Given the description of an element on the screen output the (x, y) to click on. 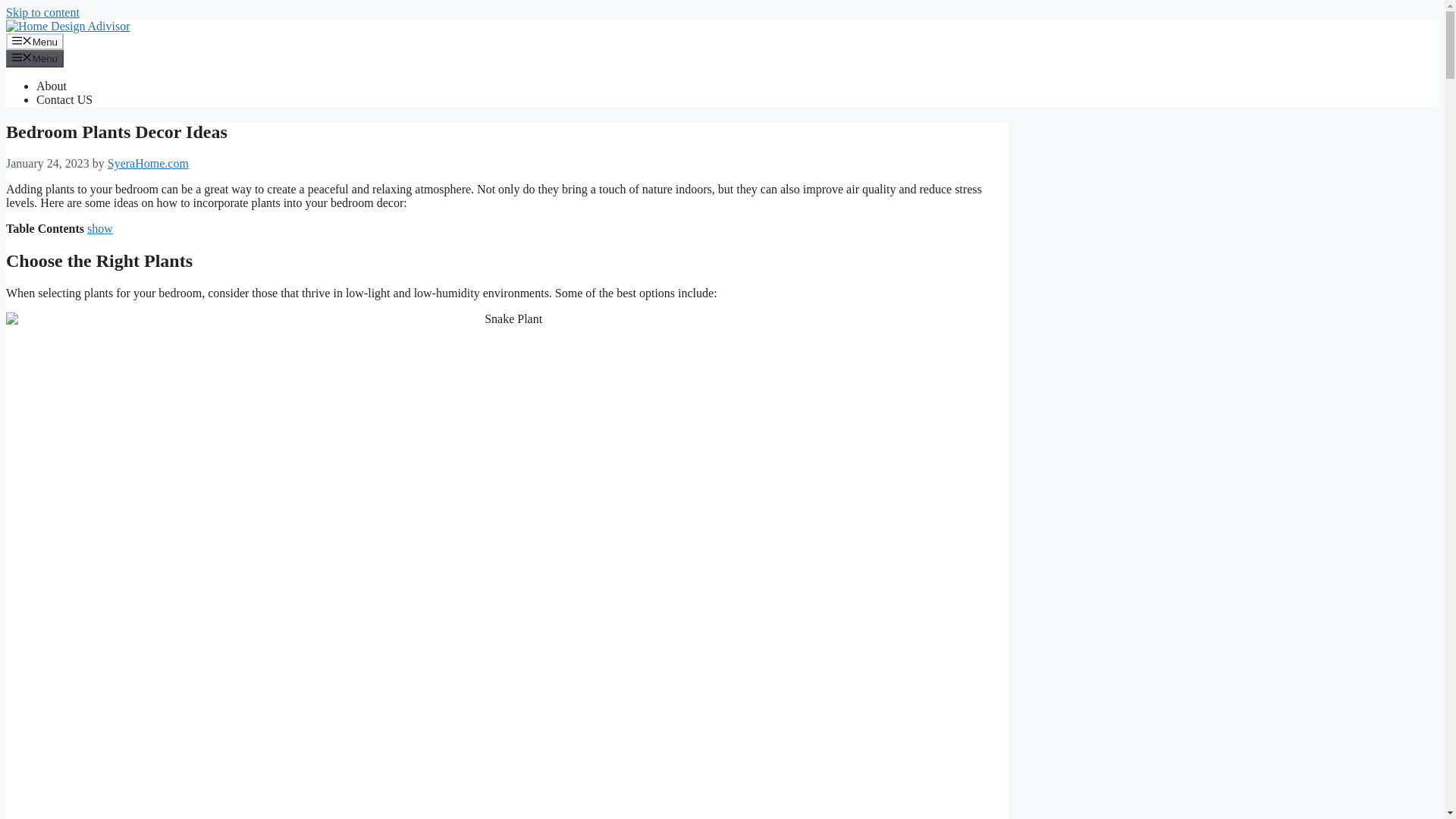
Menu (34, 57)
View all posts by SyeraHome.com (148, 163)
show (100, 228)
About (51, 85)
SyeraHome.com (148, 163)
Menu (34, 41)
Skip to content (42, 11)
Contact US (64, 99)
Skip to content (42, 11)
